Given the description of an element on the screen output the (x, y) to click on. 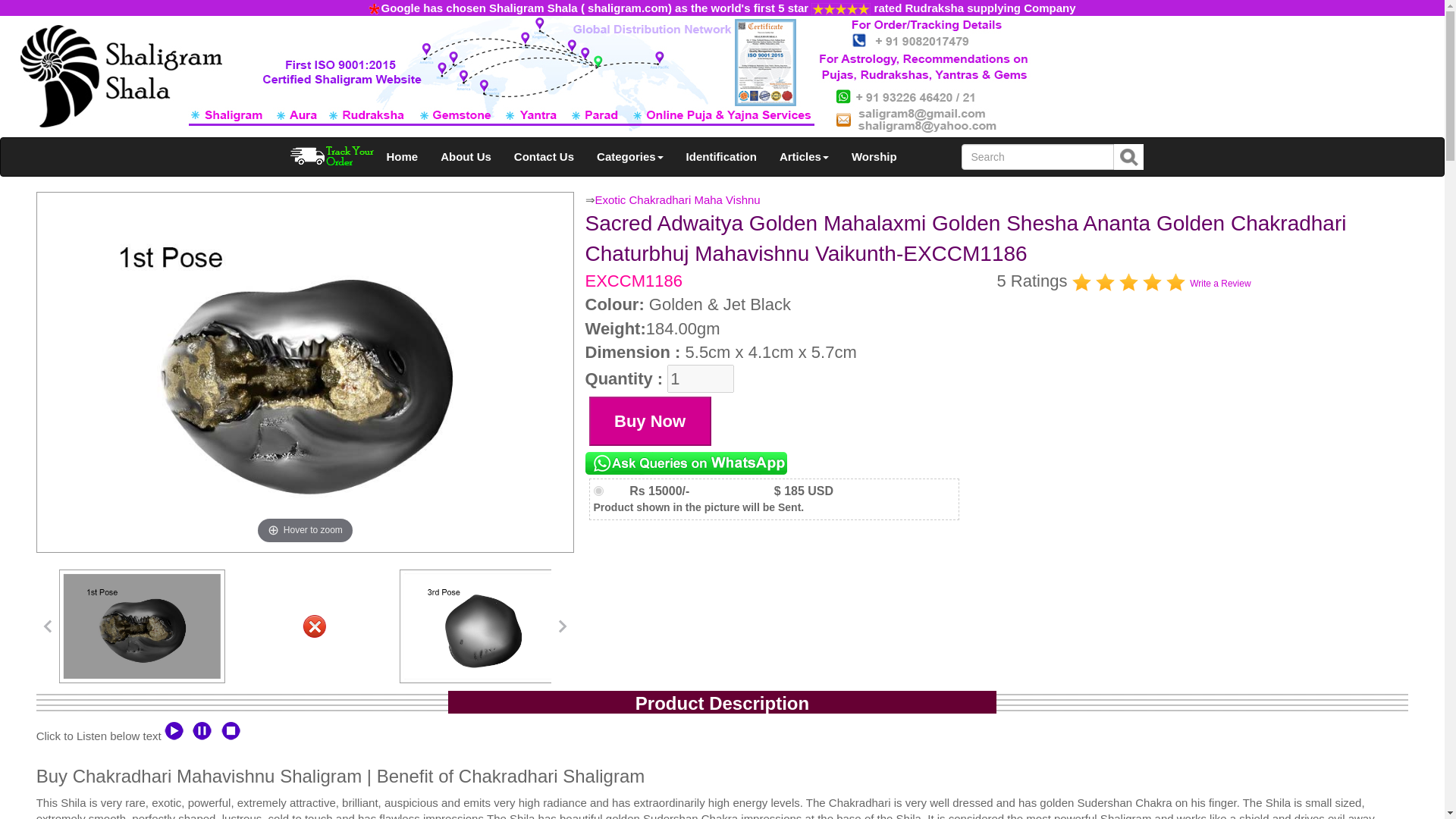
Articles (804, 157)
1 (699, 377)
Worship (874, 157)
Identification (721, 157)
Buy Now (650, 420)
Categories (630, 157)
Contact Us (543, 157)
Home (401, 157)
About Us (465, 157)
